Given the description of an element on the screen output the (x, y) to click on. 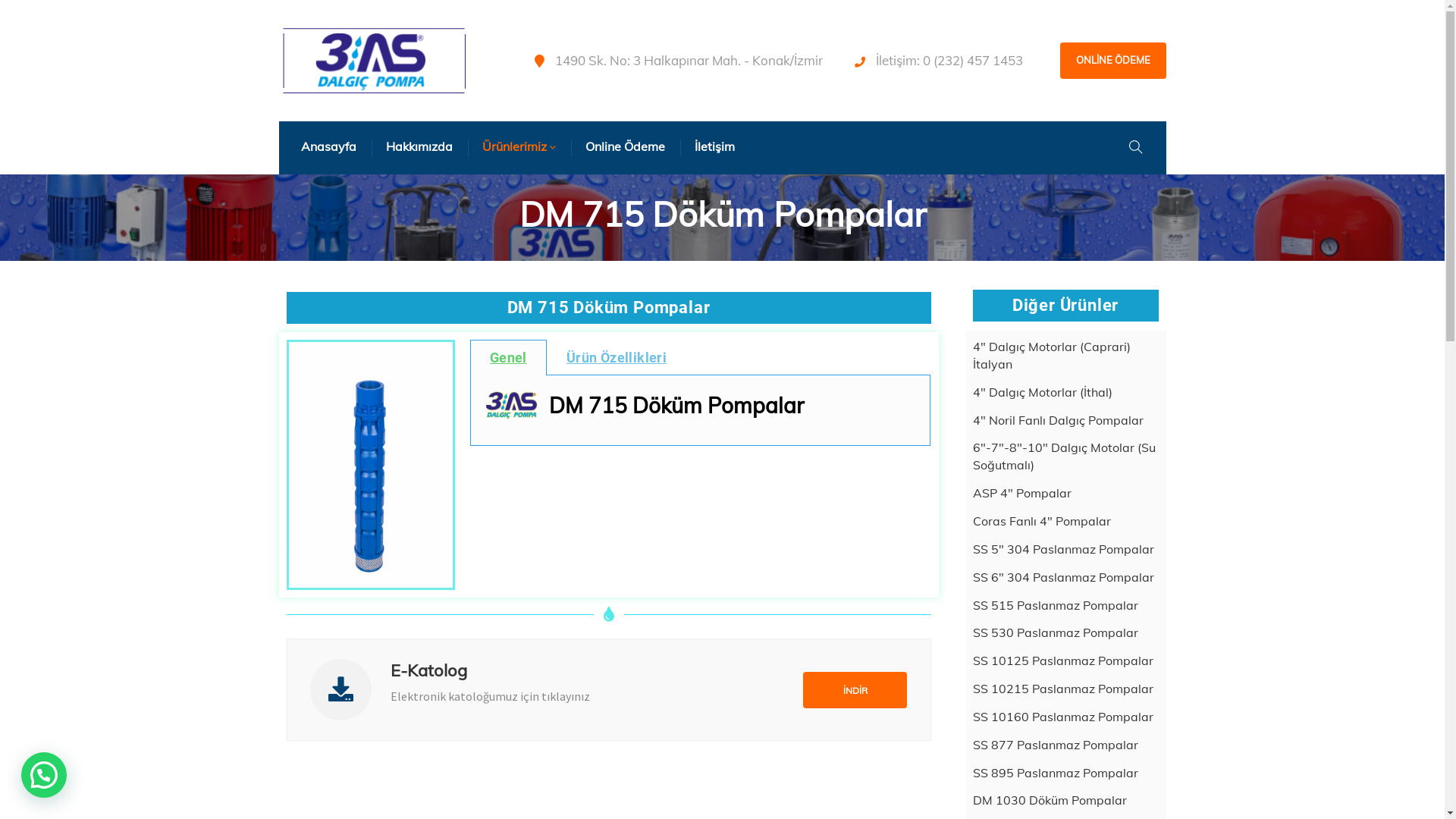
SS 530 Paslanmaz Pompalar Element type: text (1054, 632)
SS 877 Paslanmaz Pompalar Element type: text (1054, 744)
Anasayfa Element type: text (328, 147)
SS 515 Paslanmaz Pompalar Element type: text (1054, 605)
E-Katolog Element type: text (427, 669)
SS 895 Paslanmaz Pompalar Element type: text (1054, 772)
SS 10125 Paslanmaz Pompalar Element type: text (1062, 660)
SS 10160 Paslanmaz Pompalar Element type: text (1062, 716)
SS 10215 Paslanmaz Pompalar Element type: text (1062, 688)
